Given the description of an element on the screen output the (x, y) to click on. 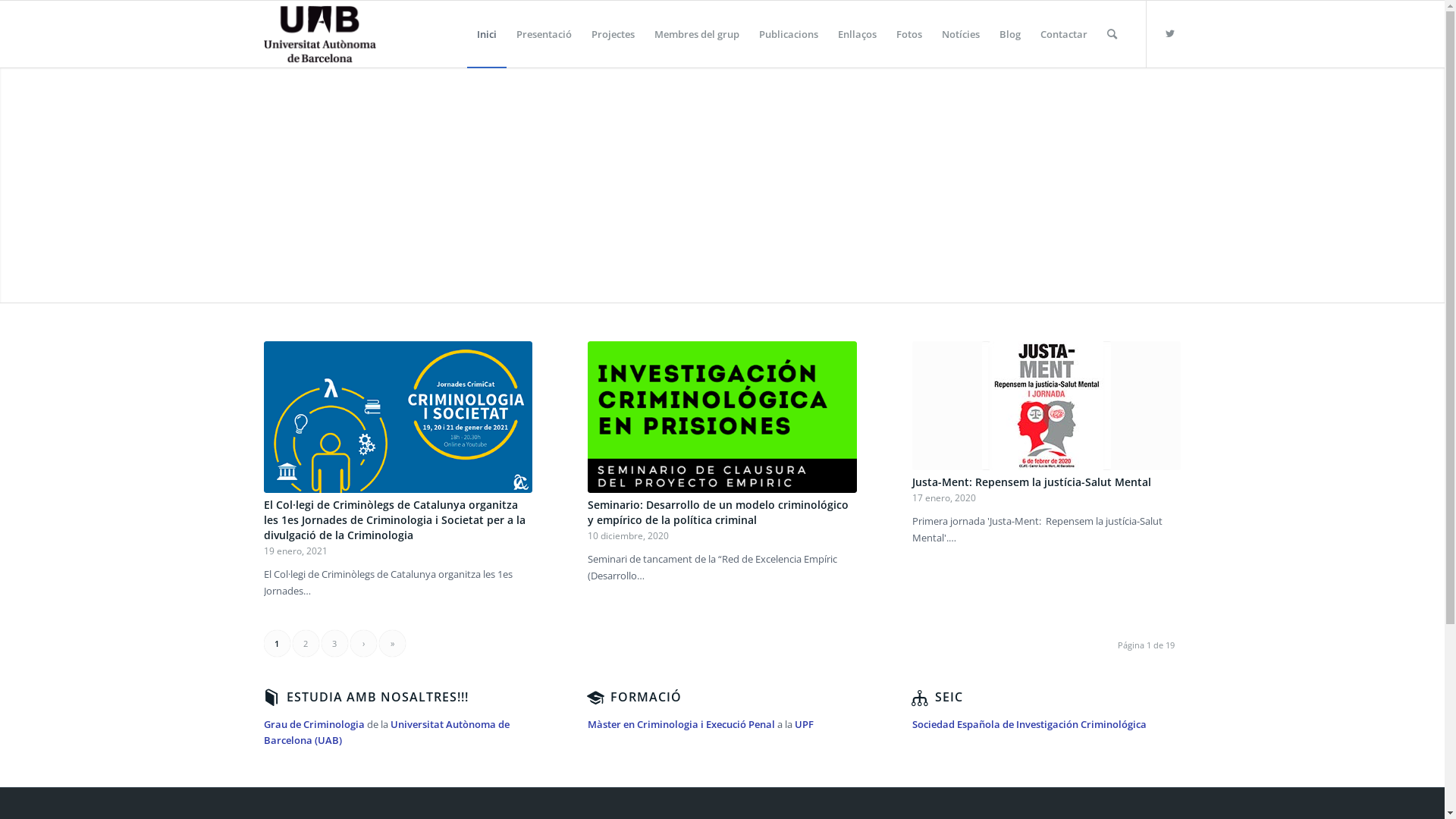
2 Element type: text (305, 643)
Blog Element type: text (1008, 33)
Grau de Criminologia Element type: text (313, 724)
Inici Element type: text (486, 33)
Projectes Element type: text (611, 33)
Membres del grup Element type: text (696, 33)
Publicacions Element type: text (788, 33)
Twitter Element type: hover (1169, 32)
3 Element type: text (334, 643)
UPF Element type: text (803, 724)
Fotos Element type: text (908, 33)
Contactar Element type: text (1062, 33)
